Given the description of an element on the screen output the (x, y) to click on. 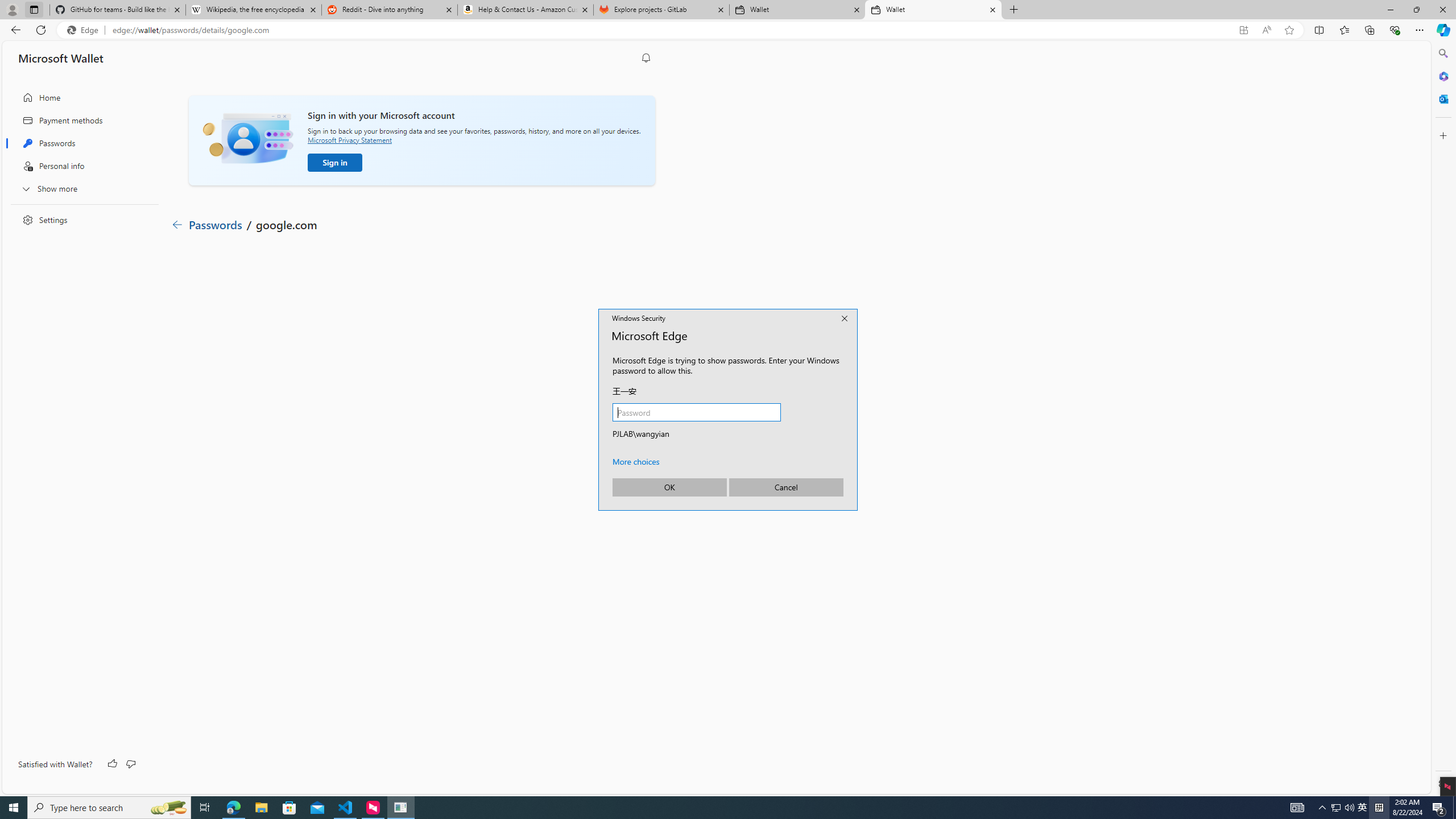
Running applications (707, 807)
Like (112, 764)
Dislike (129, 764)
